Given the description of an element on the screen output the (x, y) to click on. 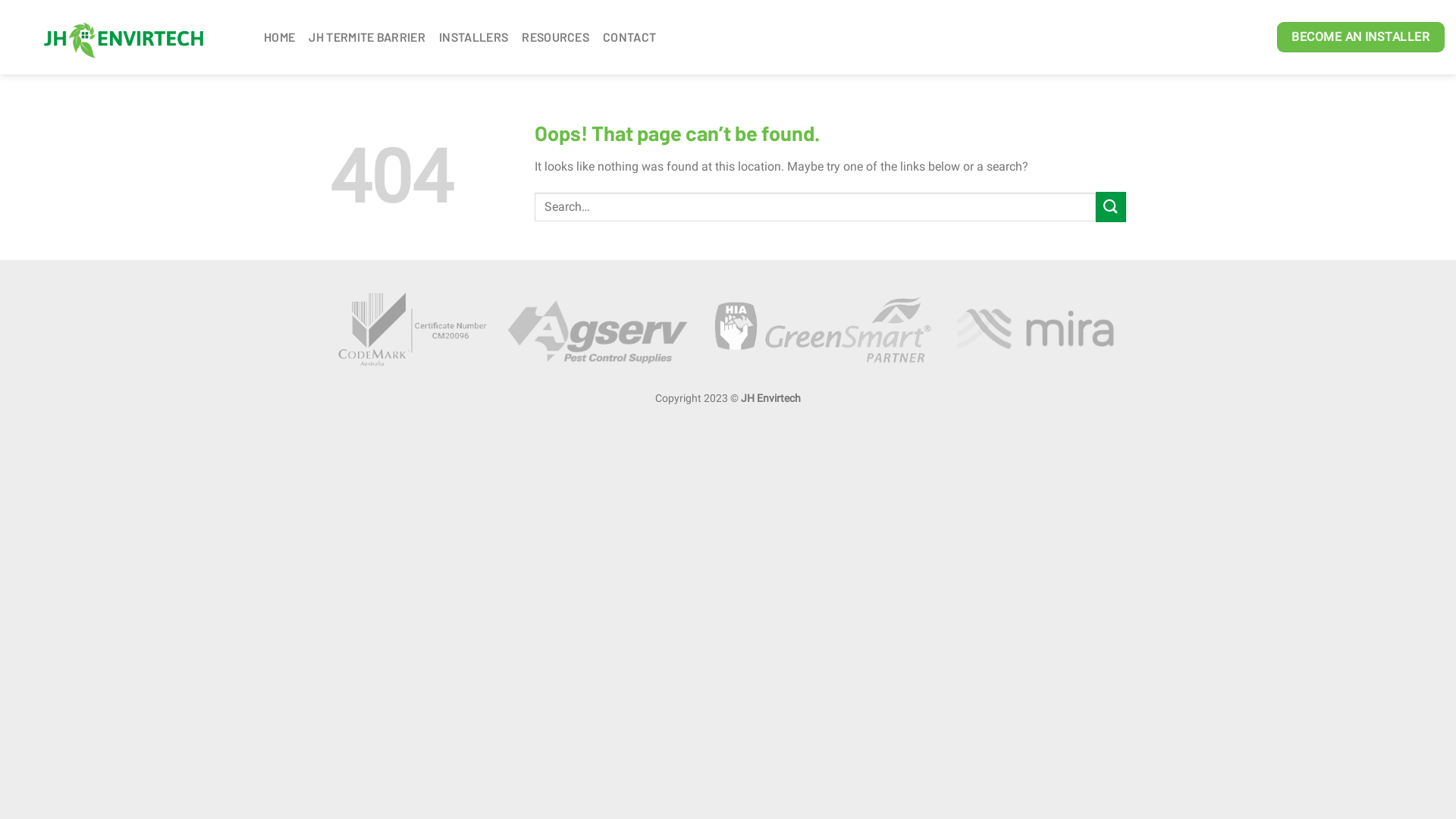
BECOME AN INSTALLER Element type: text (1360, 36)
INSTALLERS Element type: text (473, 36)
JH Envirtech - Termite Barrier System Element type: hover (126, 36)
JH TERMITE BARRIER Element type: text (366, 36)
HOME Element type: text (278, 36)
CONTACT Element type: text (628, 36)
RESOURCES Element type: text (555, 36)
